Given the description of an element on the screen output the (x, y) to click on. 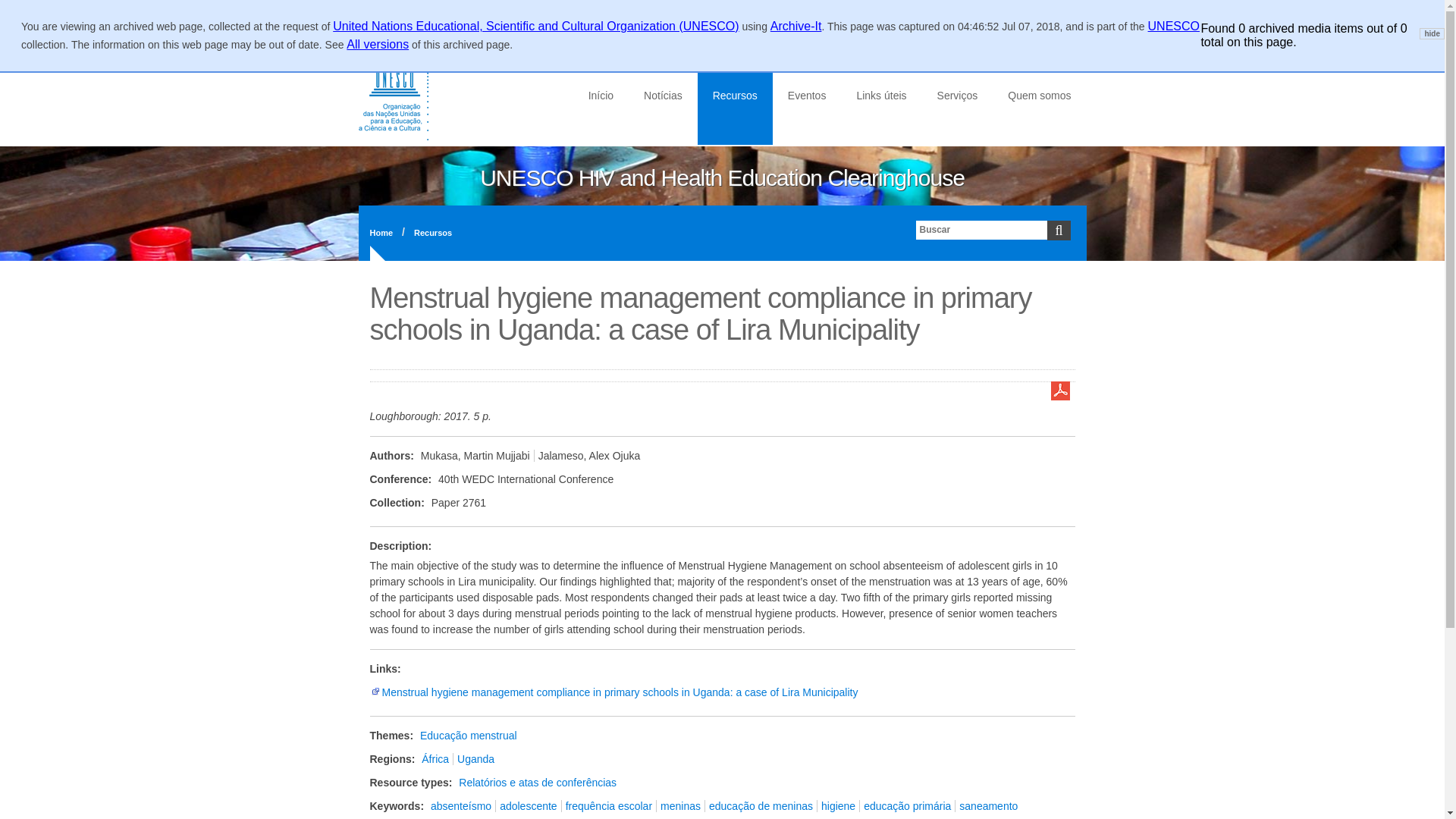
English (377, 23)
Recursos (427, 232)
Archive-It (796, 25)
Uganda (476, 758)
Buscar (24, 9)
External link (375, 691)
All versions (377, 43)
Home (381, 232)
UNESCO (1173, 25)
Quem somos (1039, 95)
